Given the description of an element on the screen output the (x, y) to click on. 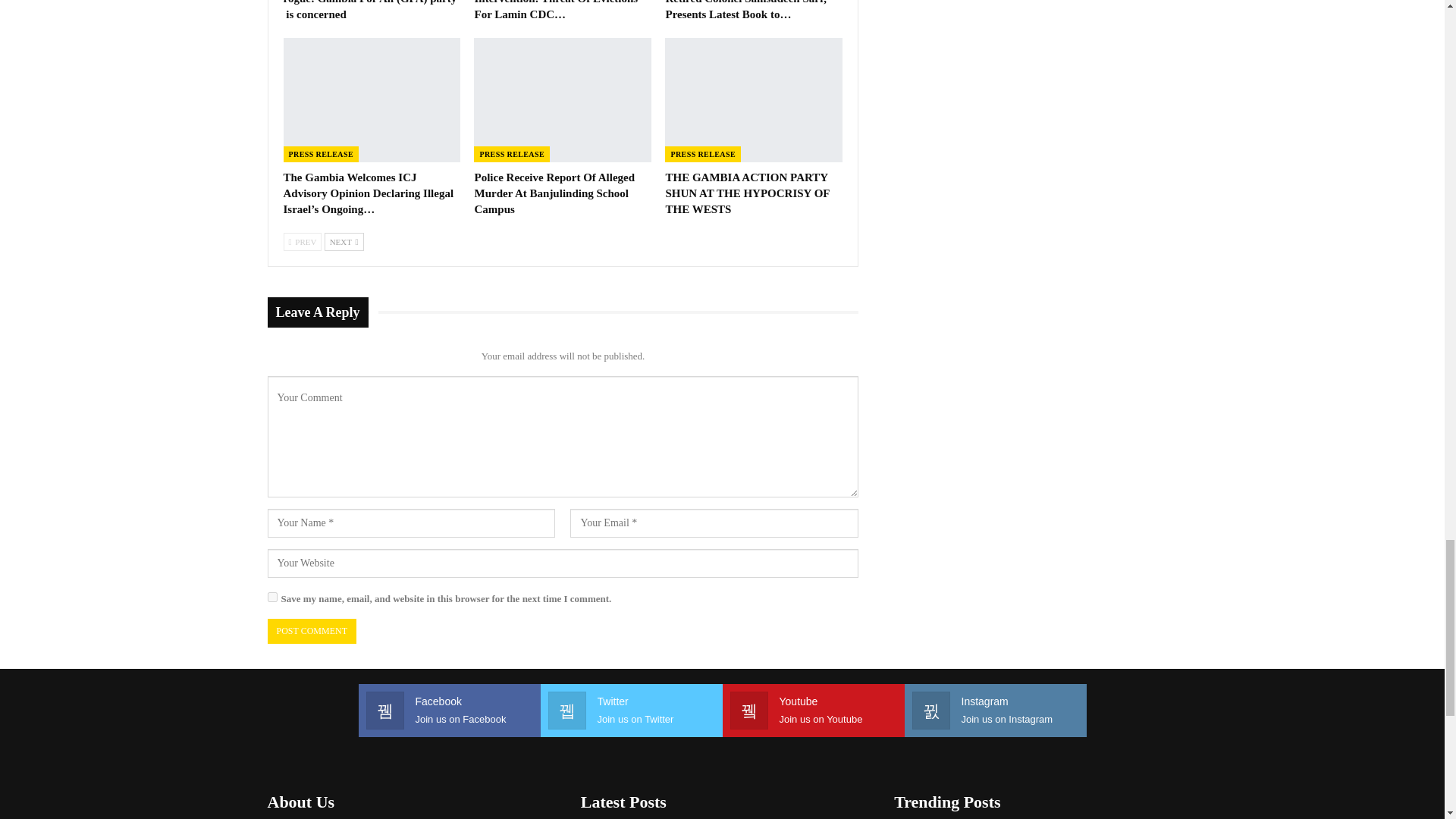
Post Comment (310, 631)
yes (271, 596)
